Given the description of an element on the screen output the (x, y) to click on. 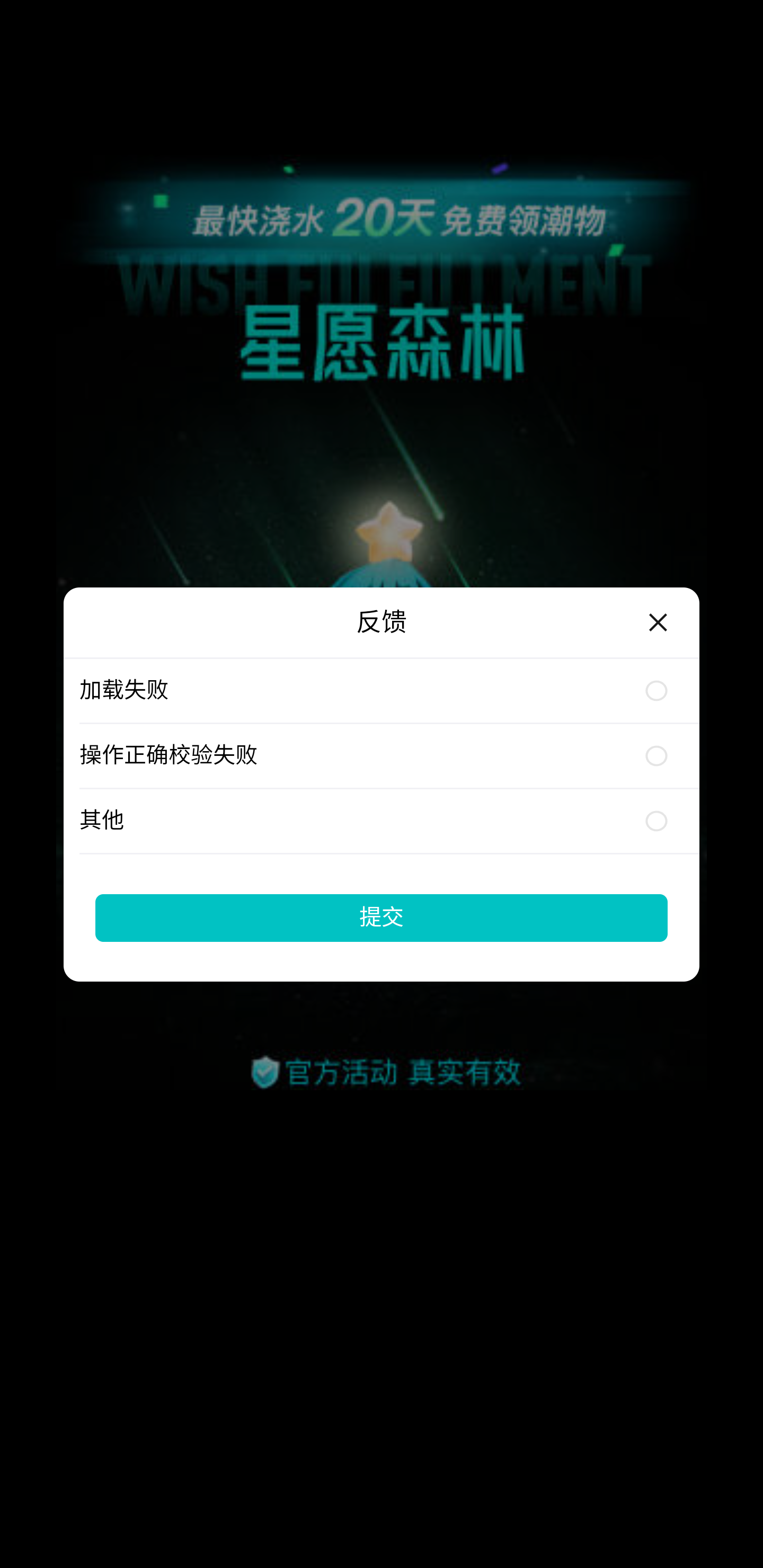
提交 (381, 917)
